Given the description of an element on the screen output the (x, y) to click on. 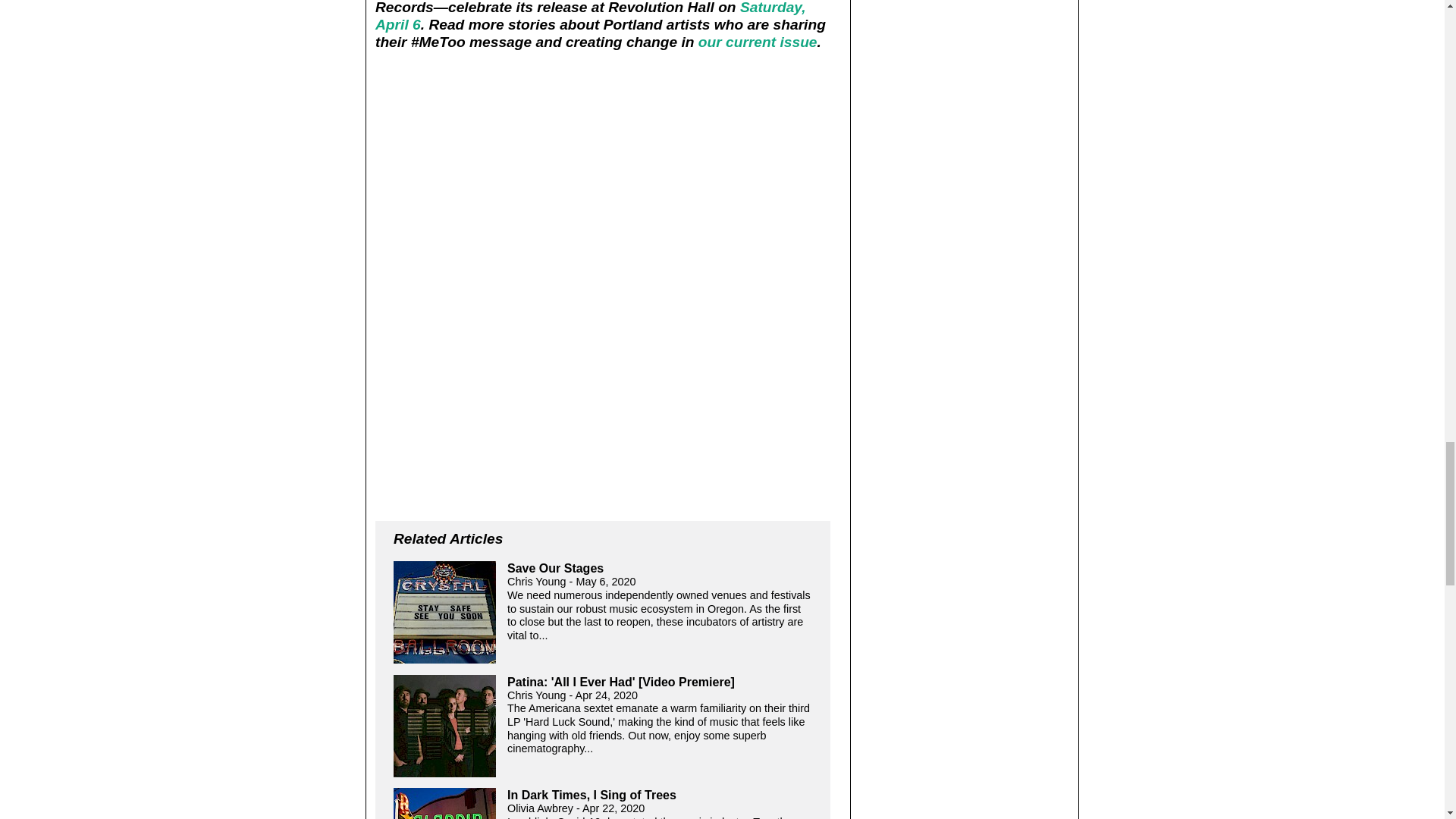
Saturday, April 6 (590, 16)
our current issue (757, 41)
